Given the description of an element on the screen output the (x, y) to click on. 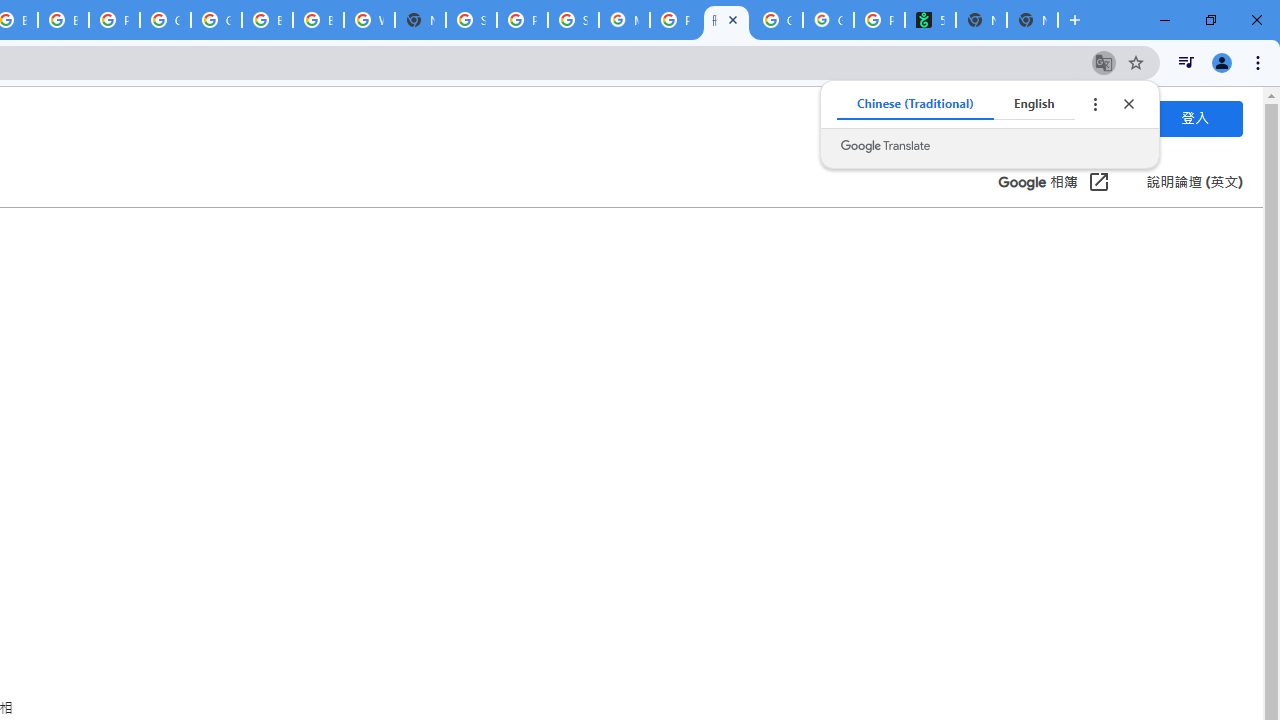
Google Cloud Platform (215, 20)
Chinese (Traditional) (915, 103)
Browse Chrome as a guest - Computer - Google Chrome Help (267, 20)
Google Cloud Platform (164, 20)
New Tab (1032, 20)
English (1034, 103)
